Given the description of an element on the screen output the (x, y) to click on. 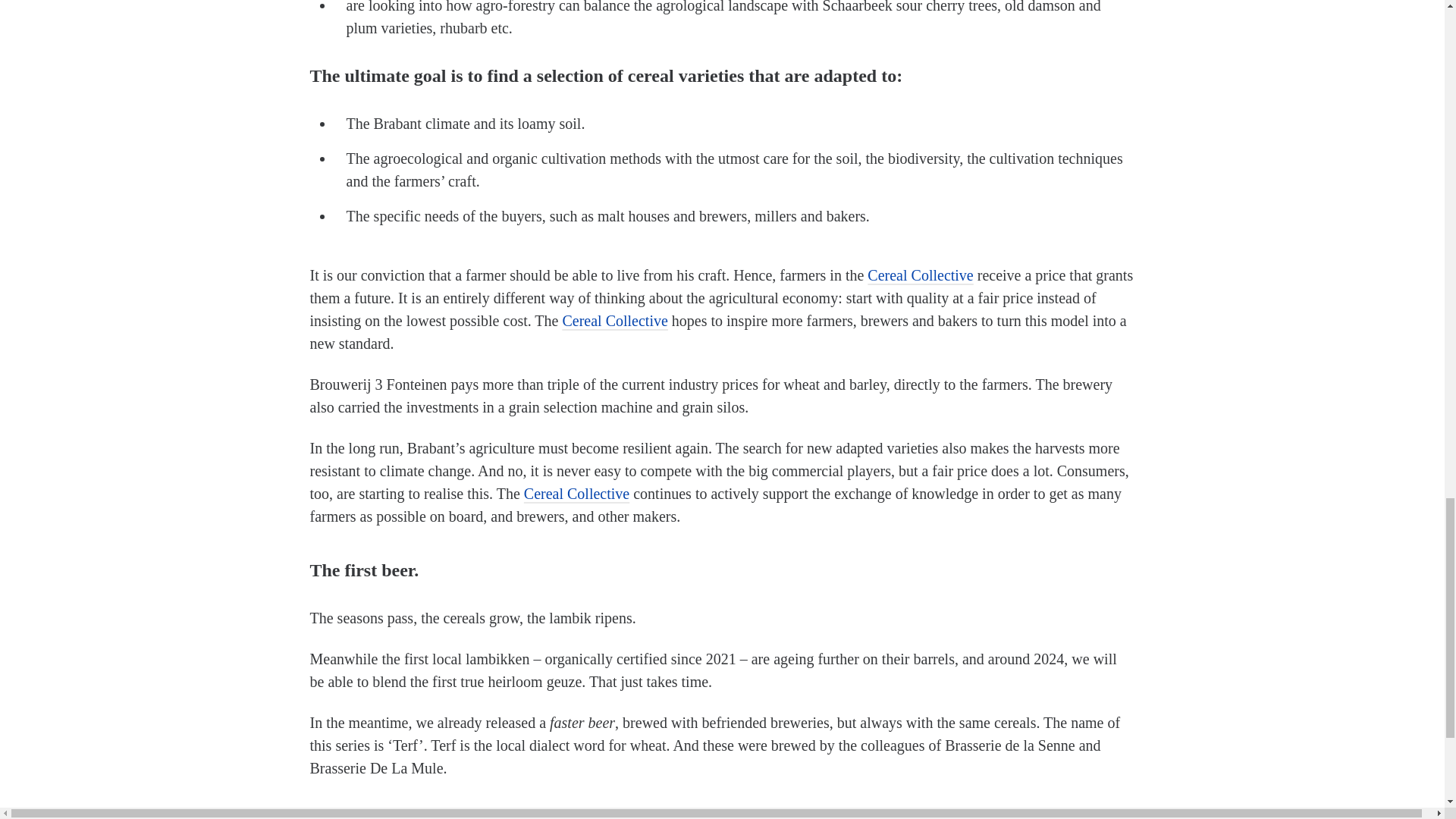
Cereal Collective (919, 274)
Cereal Collective (576, 493)
Cereal Collective (614, 320)
